Given the description of an element on the screen output the (x, y) to click on. 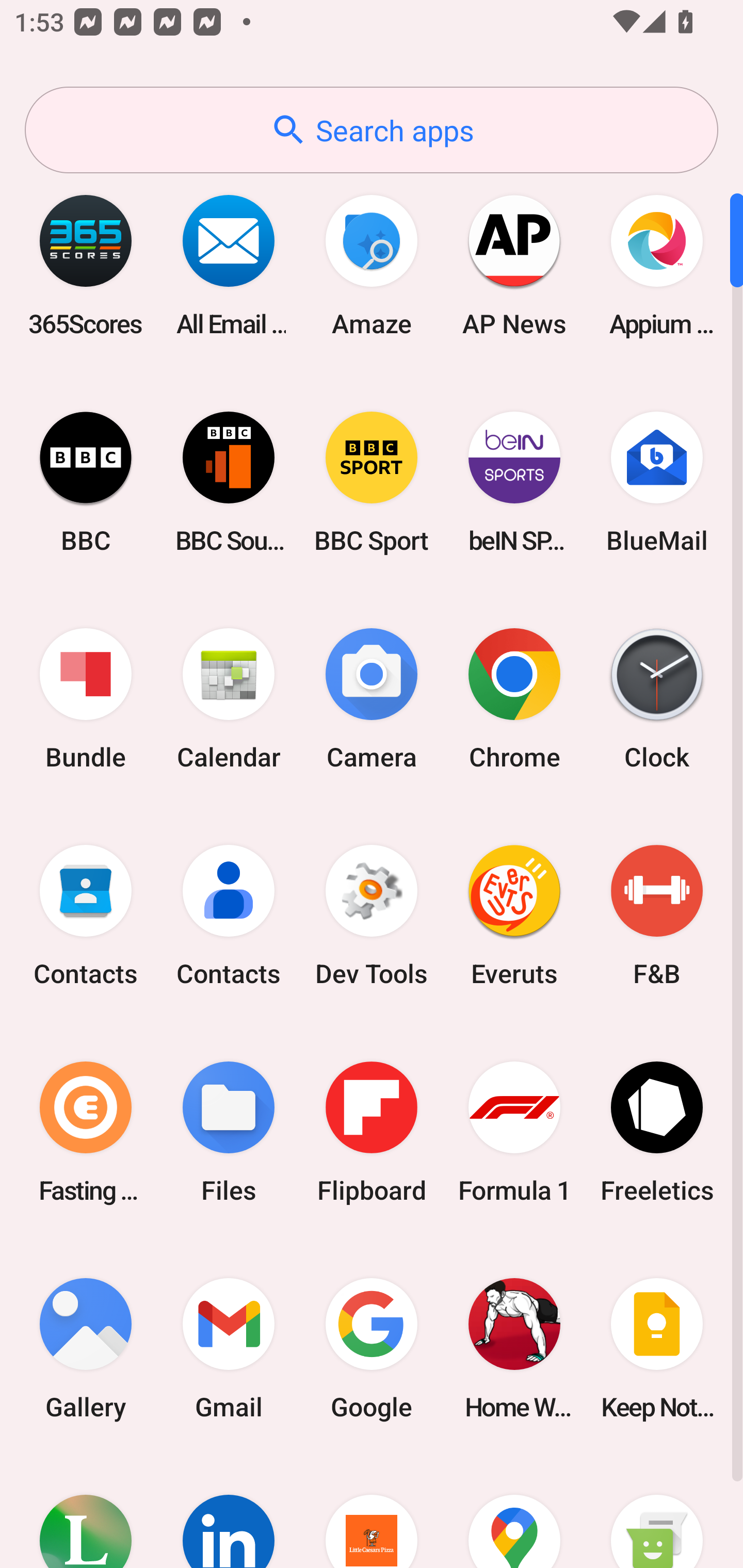
  Search apps (371, 130)
365Scores (85, 264)
All Email Connect (228, 264)
Amaze (371, 264)
AP News (514, 264)
Appium Settings (656, 264)
BBC (85, 482)
BBC Sounds (228, 482)
BBC Sport (371, 482)
beIN SPORTS (514, 482)
BlueMail (656, 482)
Bundle (85, 699)
Calendar (228, 699)
Camera (371, 699)
Chrome (514, 699)
Clock (656, 699)
Contacts (85, 915)
Contacts (228, 915)
Dev Tools (371, 915)
Everuts (514, 915)
F&B (656, 915)
Fasting Coach (85, 1131)
Files (228, 1131)
Flipboard (371, 1131)
Formula 1 (514, 1131)
Freeletics (656, 1131)
Gallery (85, 1348)
Gmail (228, 1348)
Google (371, 1348)
Home Workout (514, 1348)
Keep Notes (656, 1348)
Lifesum (85, 1512)
LinkedIn (228, 1512)
Little Caesars Pizza (371, 1512)
Maps (514, 1512)
Messaging (656, 1512)
